Given the description of an element on the screen output the (x, y) to click on. 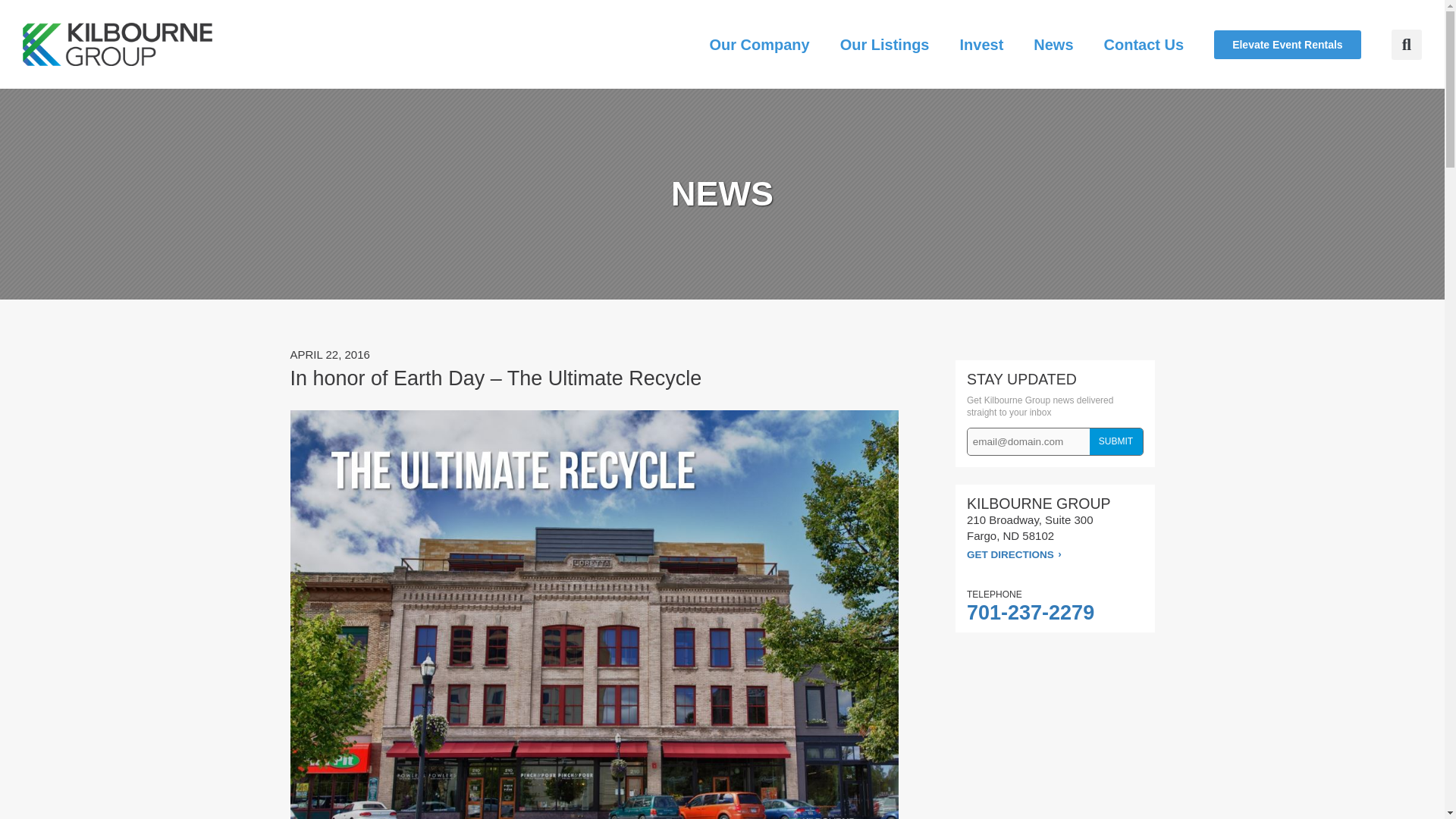
Submit (1117, 441)
Submit (1117, 441)
Our Listings (884, 44)
Invest (980, 44)
Our Company (759, 44)
Elevate Event Rentals (1287, 44)
GET DIRECTIONS (1013, 554)
701-237-2279 (1030, 612)
News (1052, 44)
Contact Us (1144, 44)
